Given the description of an element on the screen output the (x, y) to click on. 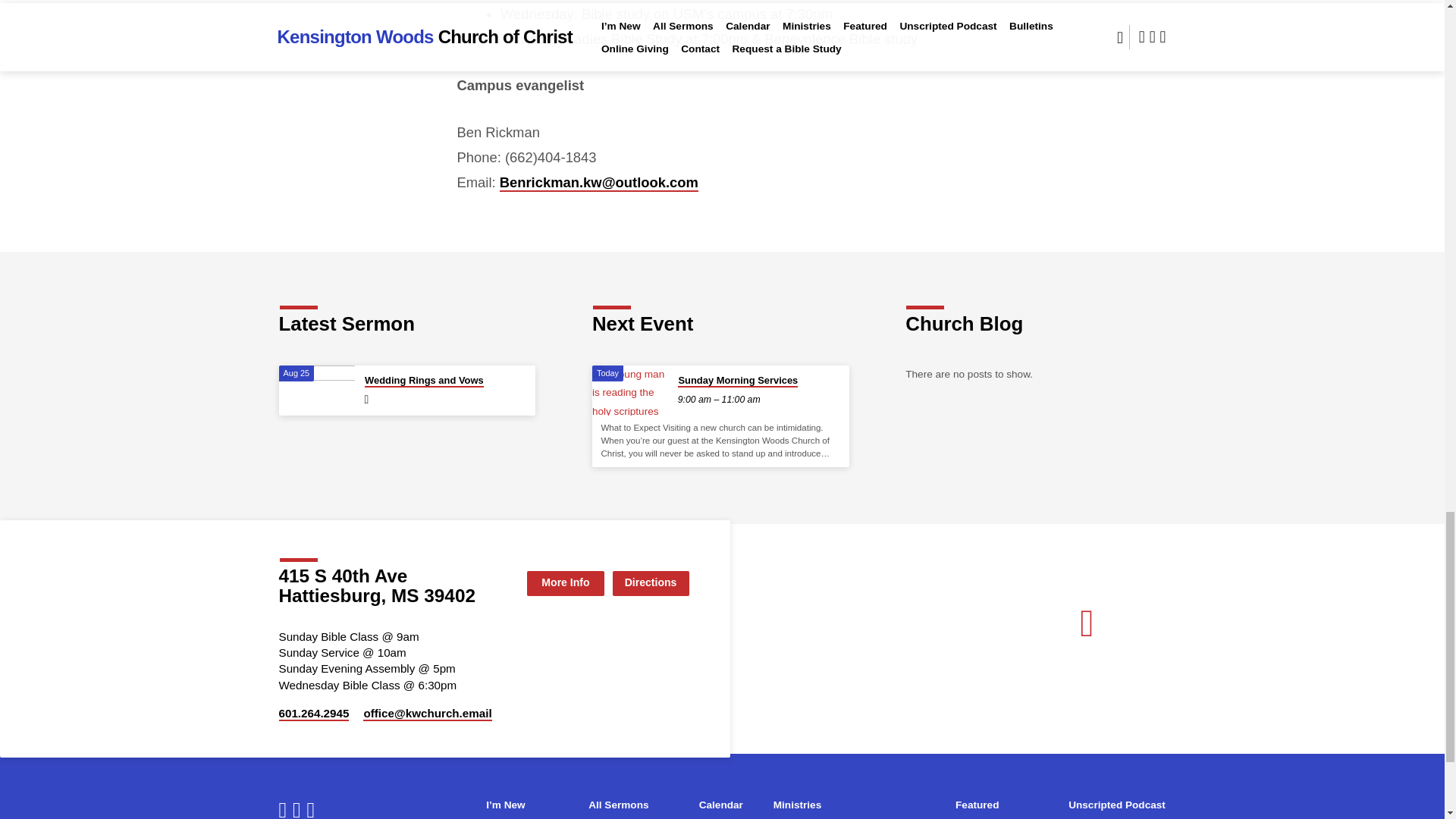
Sunday Morning Services (630, 390)
Wedding Rings and Vows (317, 390)
Sunday Morning Services (737, 380)
Wedding Rings and Vows (424, 380)
